Given the description of an element on the screen output the (x, y) to click on. 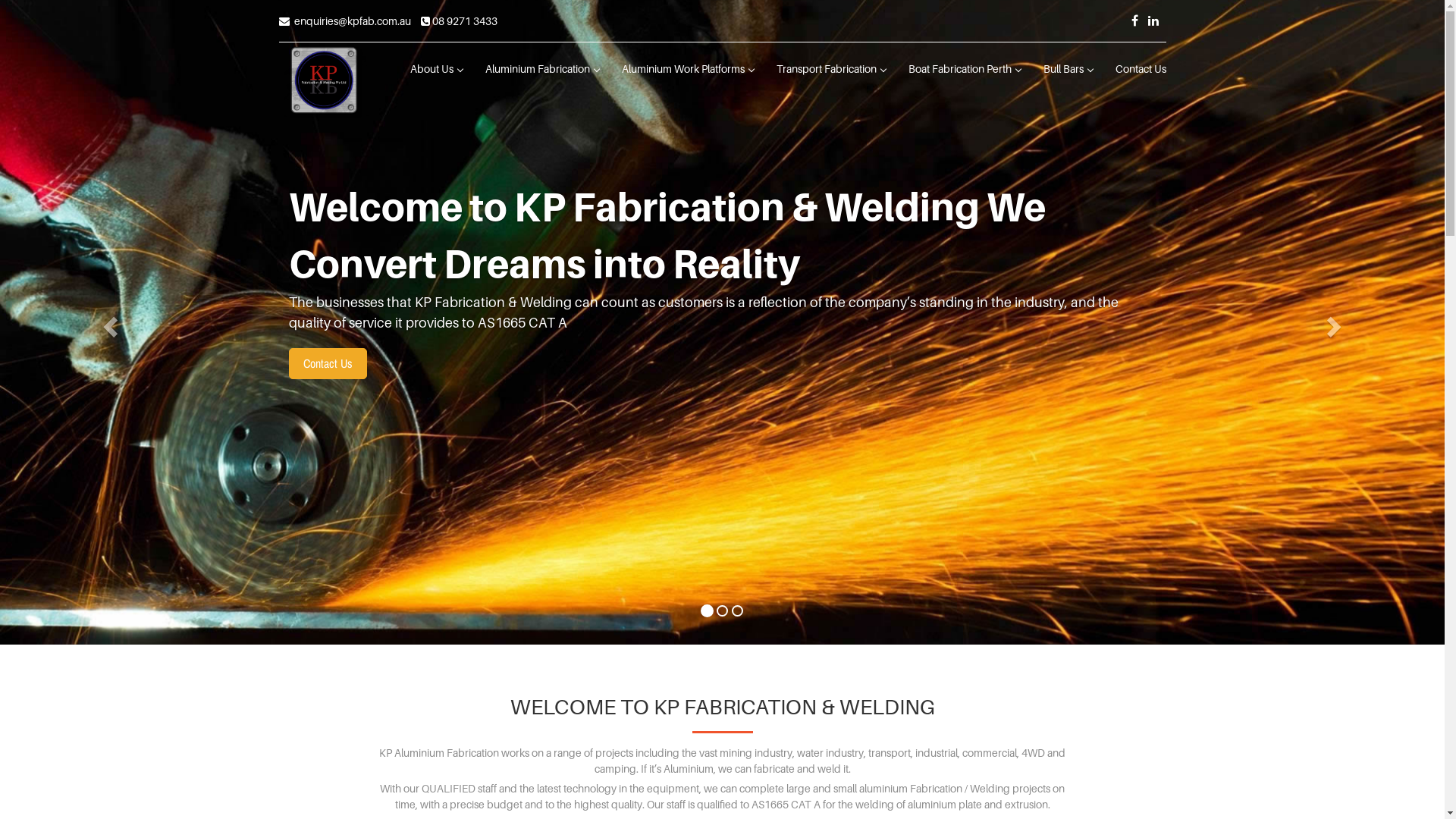
Previous Element type: text (108, 322)
 08 9271 3433 Element type: text (458, 20)
Aluminium Fabrication Element type: text (541, 68)
Contact Us Element type: text (1140, 68)
Boat Fabrication Perth Element type: text (963, 68)
Contact Us Element type: text (327, 363)
Bull Bars Element type: text (1067, 68)
Aluminium Work Platforms Element type: text (686, 68)
About Us Element type: text (435, 68)
Transport Fabrication Element type: text (830, 68)
Next Element type: text (1335, 322)
  enquiries@kpfab.com.au Element type: text (345, 20)
